Given the description of an element on the screen output the (x, y) to click on. 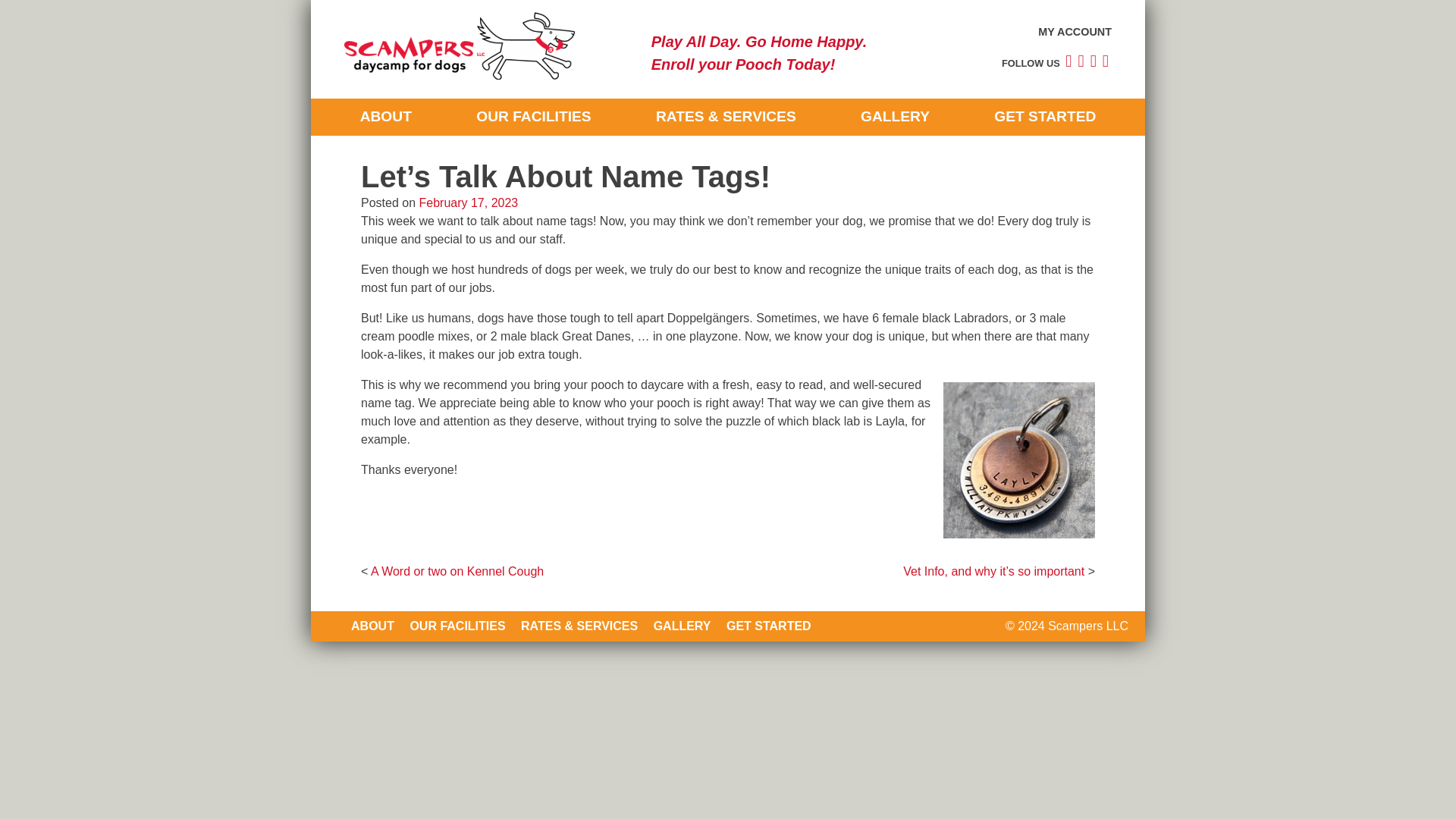
GET STARTED (768, 625)
GALLERY (894, 116)
GET STARTED (1044, 116)
GALLERY (682, 625)
A Word or two on Kennel Cough (457, 571)
OUR FACILITIES (533, 116)
ABOUT (372, 625)
OUR FACILITIES (457, 625)
February 17, 2023 (468, 202)
ABOUT (385, 116)
